Given the description of an element on the screen output the (x, y) to click on. 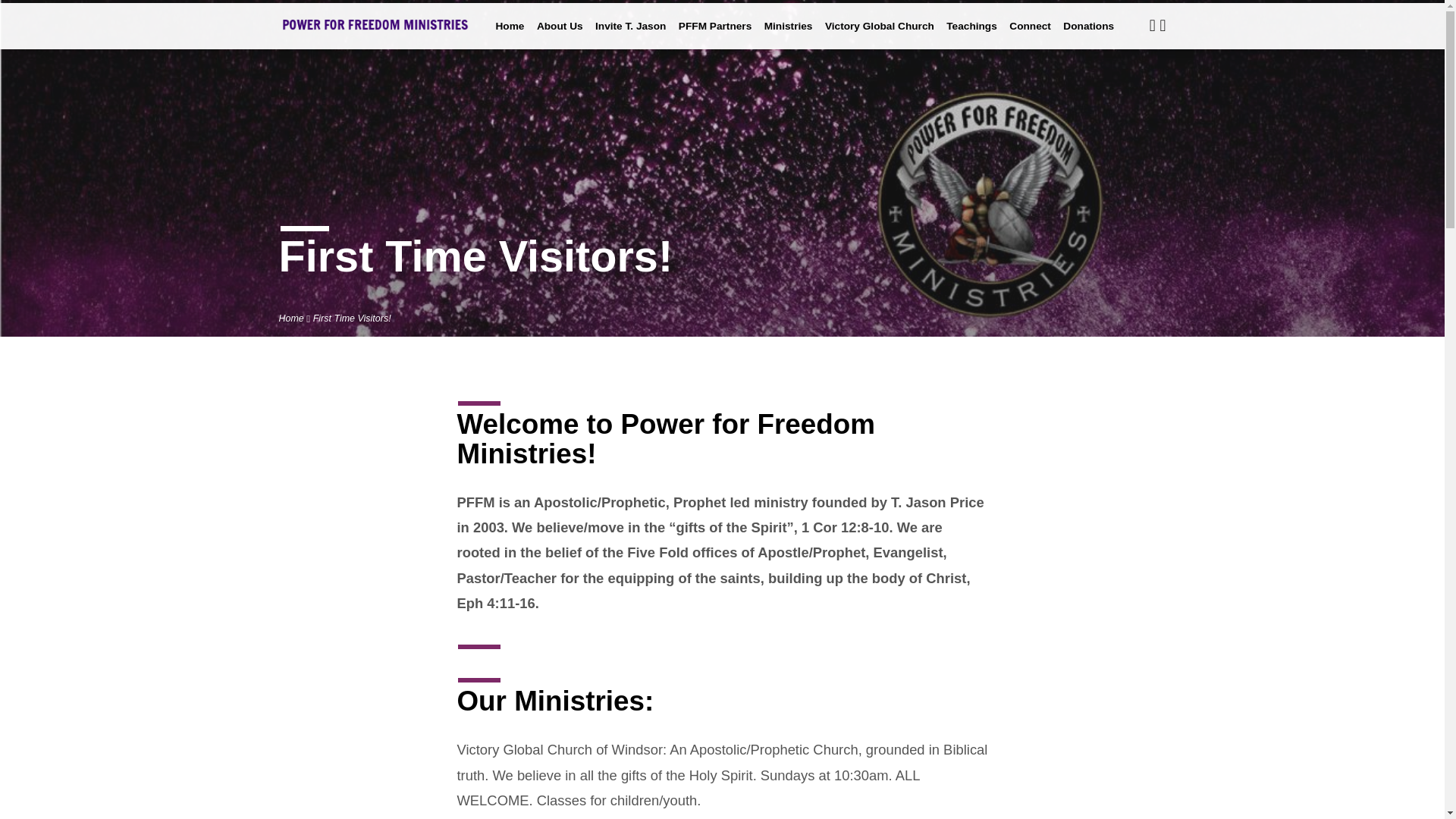
Ministries (788, 35)
Donations (1087, 35)
Victory Global Church (879, 35)
PFFM Partners (714, 35)
About Us (560, 35)
Connect (1030, 35)
Home (291, 317)
Teachings (971, 35)
Invite T. Jason (630, 35)
First Time Visitors! (352, 317)
